Given the description of an element on the screen output the (x, y) to click on. 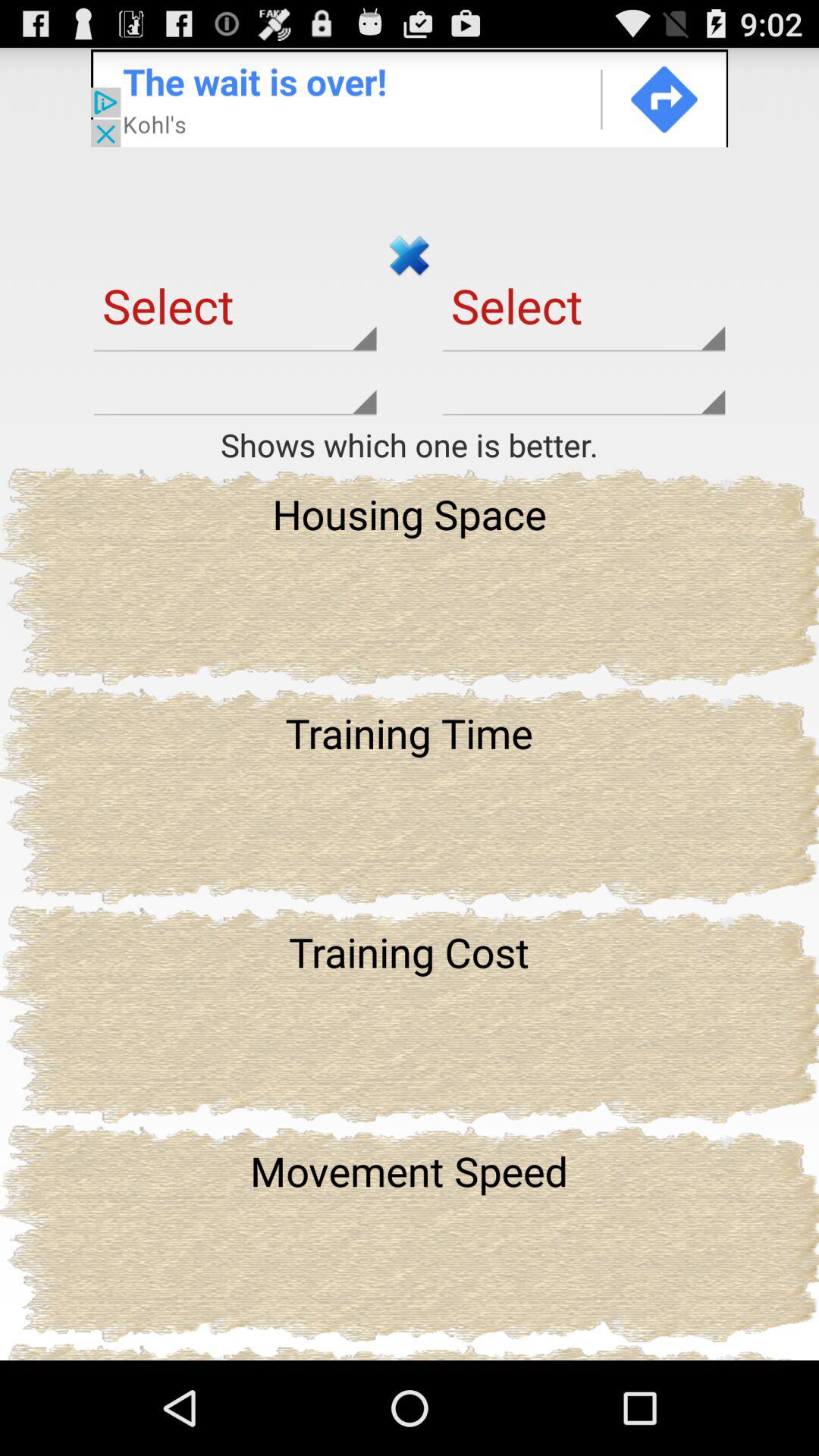
click advertisement (409, 97)
